Given the description of an element on the screen output the (x, y) to click on. 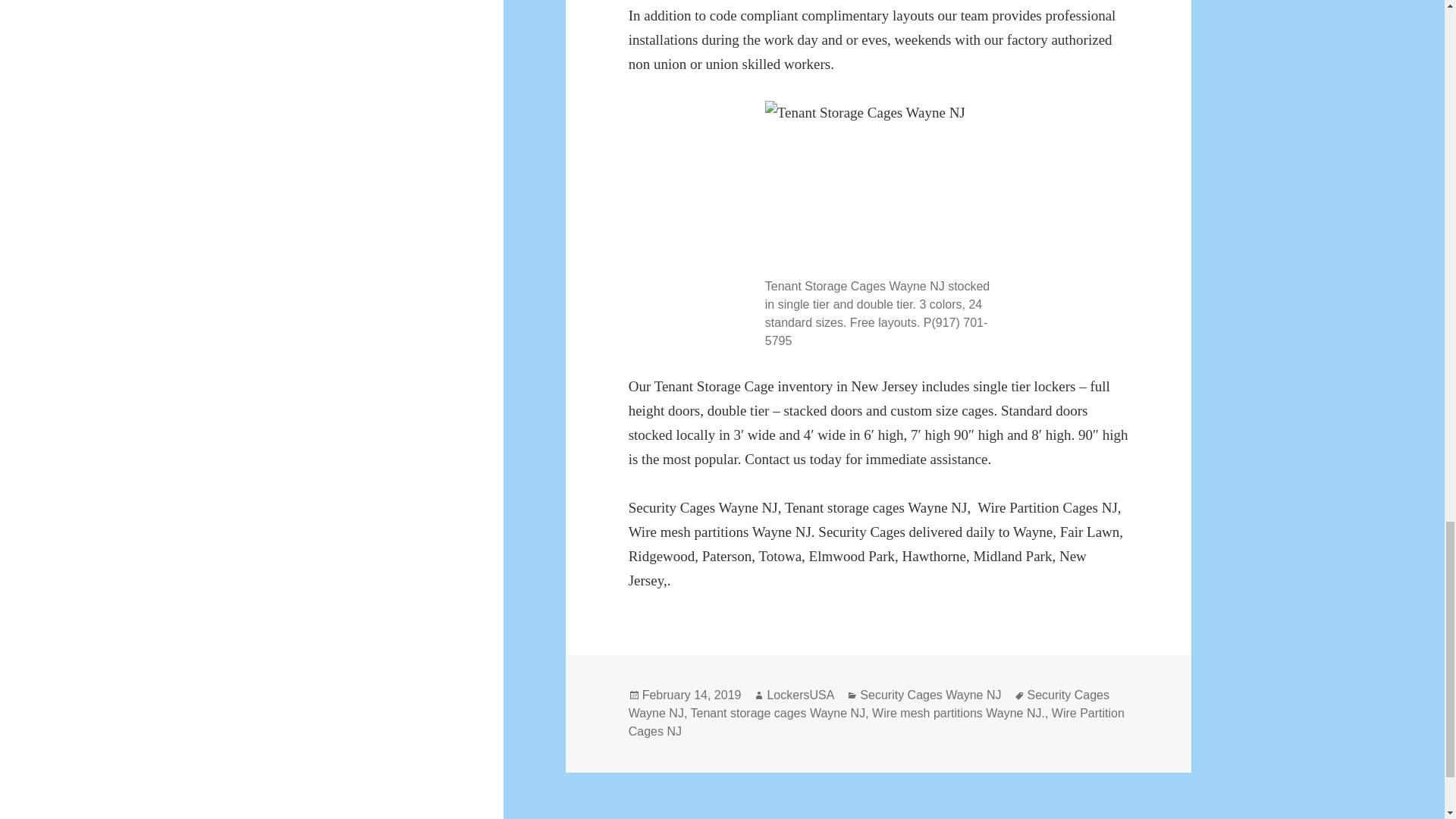
Security Cages Wayne NJ (868, 704)
Security Cages Wayne NJ (930, 694)
LockersUSA (800, 694)
February 14, 2019 (691, 694)
Tenant storage cages Wayne NJ (777, 713)
Wire Partition Cages NJ (876, 722)
Wire mesh partitions Wayne NJ. (958, 713)
